Given the description of an element on the screen output the (x, y) to click on. 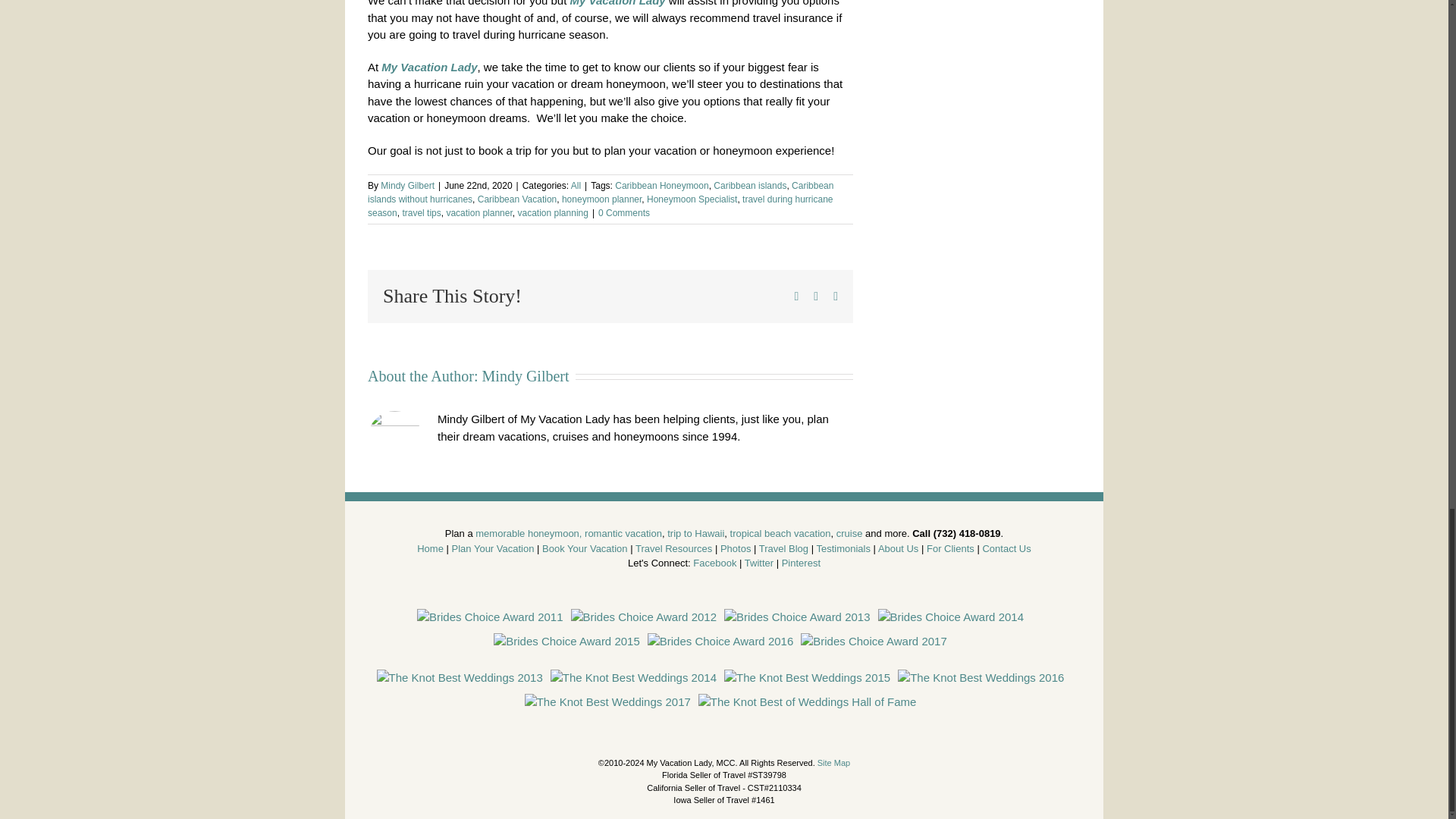
Posts by Mindy Gilbert (525, 375)
All Inclusive Resorts, Tropical Beach Vacations (780, 532)
Honeymoon Vacation, Romantic Vacation (569, 532)
Hawaiian Vacation, Hawaii Vacation (694, 532)
Posts by Mindy Gilbert (406, 185)
My Vacation Lady (617, 3)
